Given the description of an element on the screen output the (x, y) to click on. 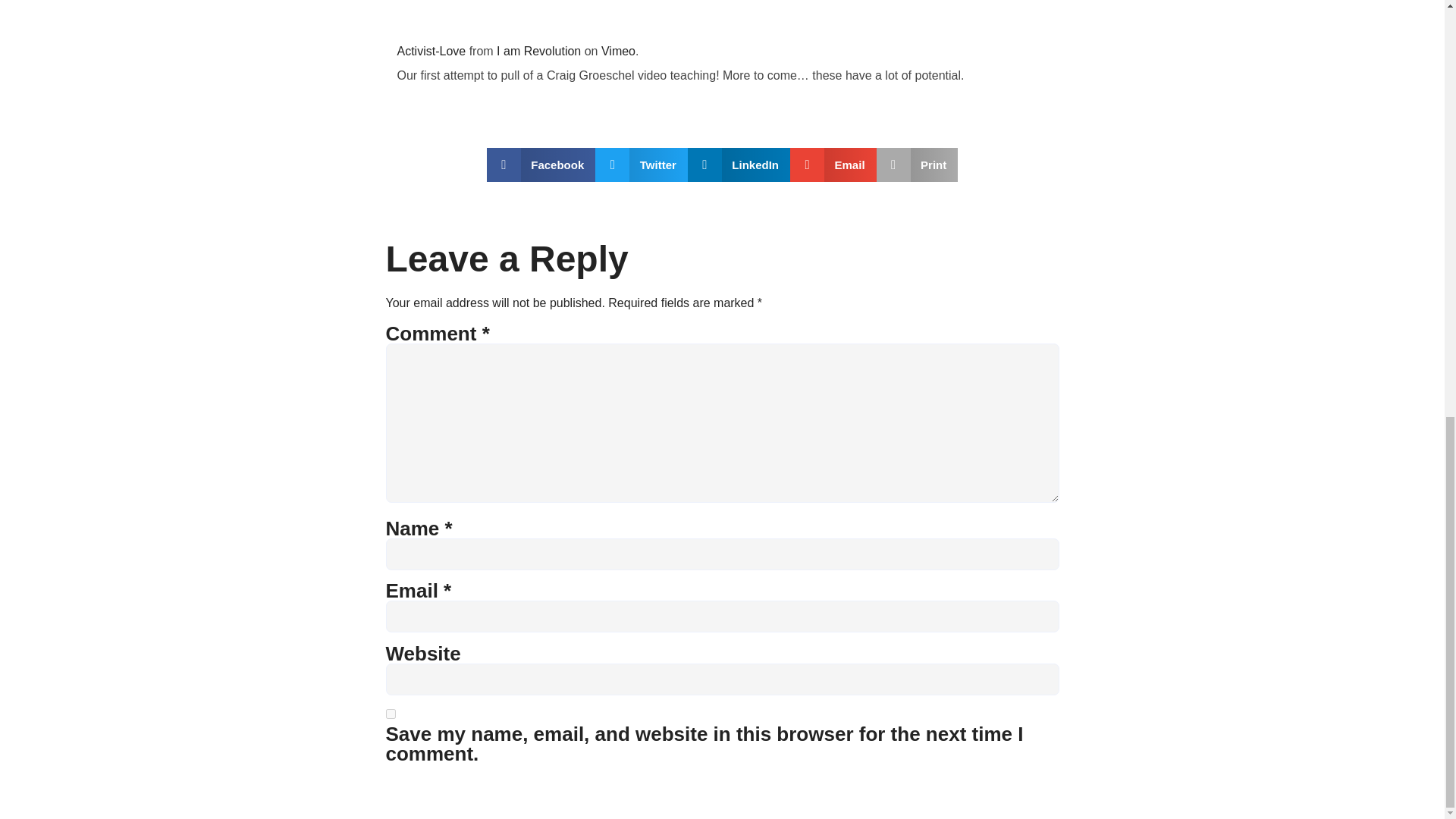
yes (389, 714)
Vimeo (617, 51)
Activist-Love (431, 51)
I am Revolution (538, 51)
